Given the description of an element on the screen output the (x, y) to click on. 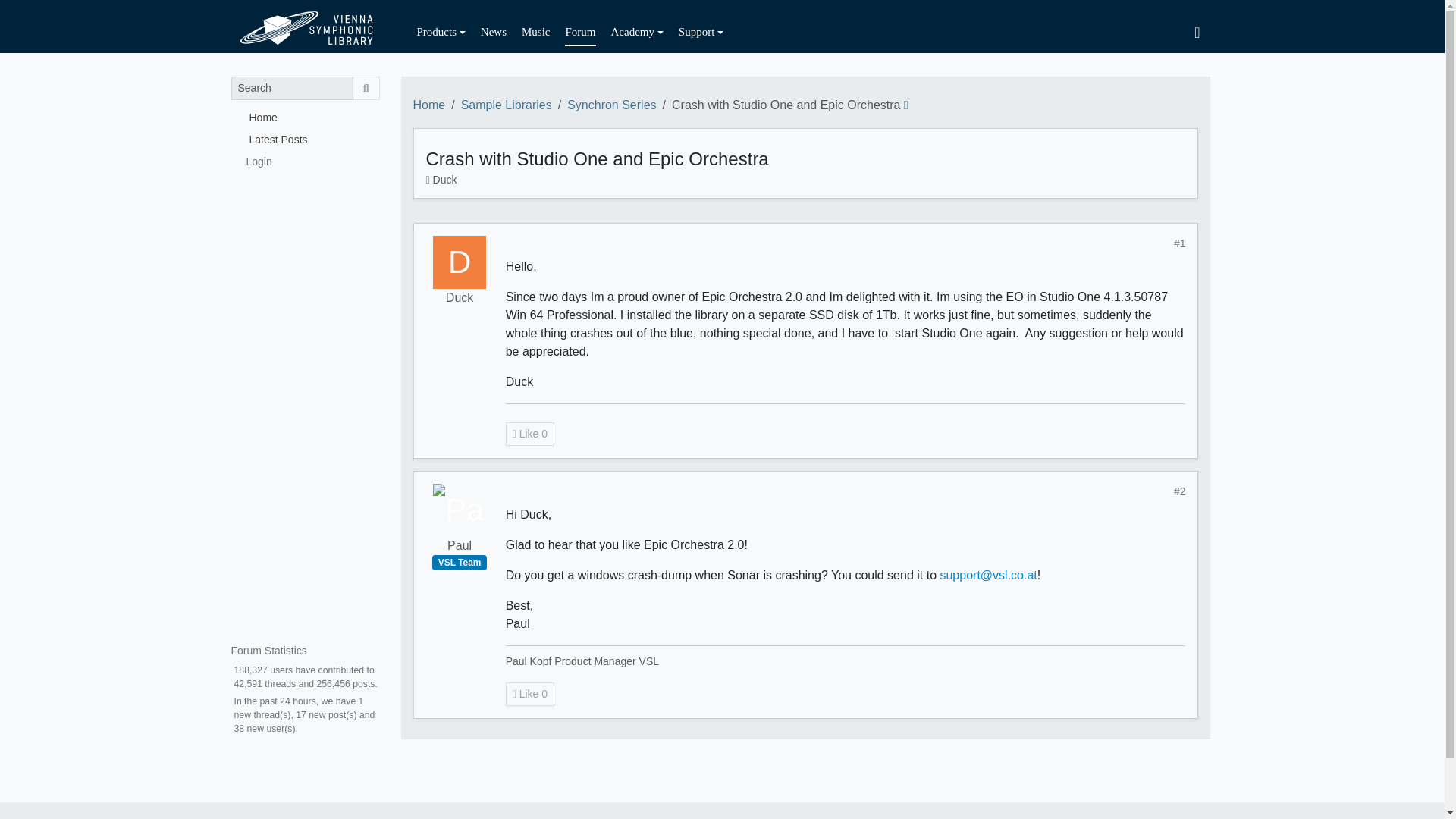
Products (441, 32)
Forum (579, 32)
Music (535, 32)
Paul (458, 546)
Duck (459, 262)
Academy (637, 32)
Latest Posts (304, 138)
Duck (459, 298)
Duck (444, 179)
Paul (459, 510)
